Given the description of an element on the screen output the (x, y) to click on. 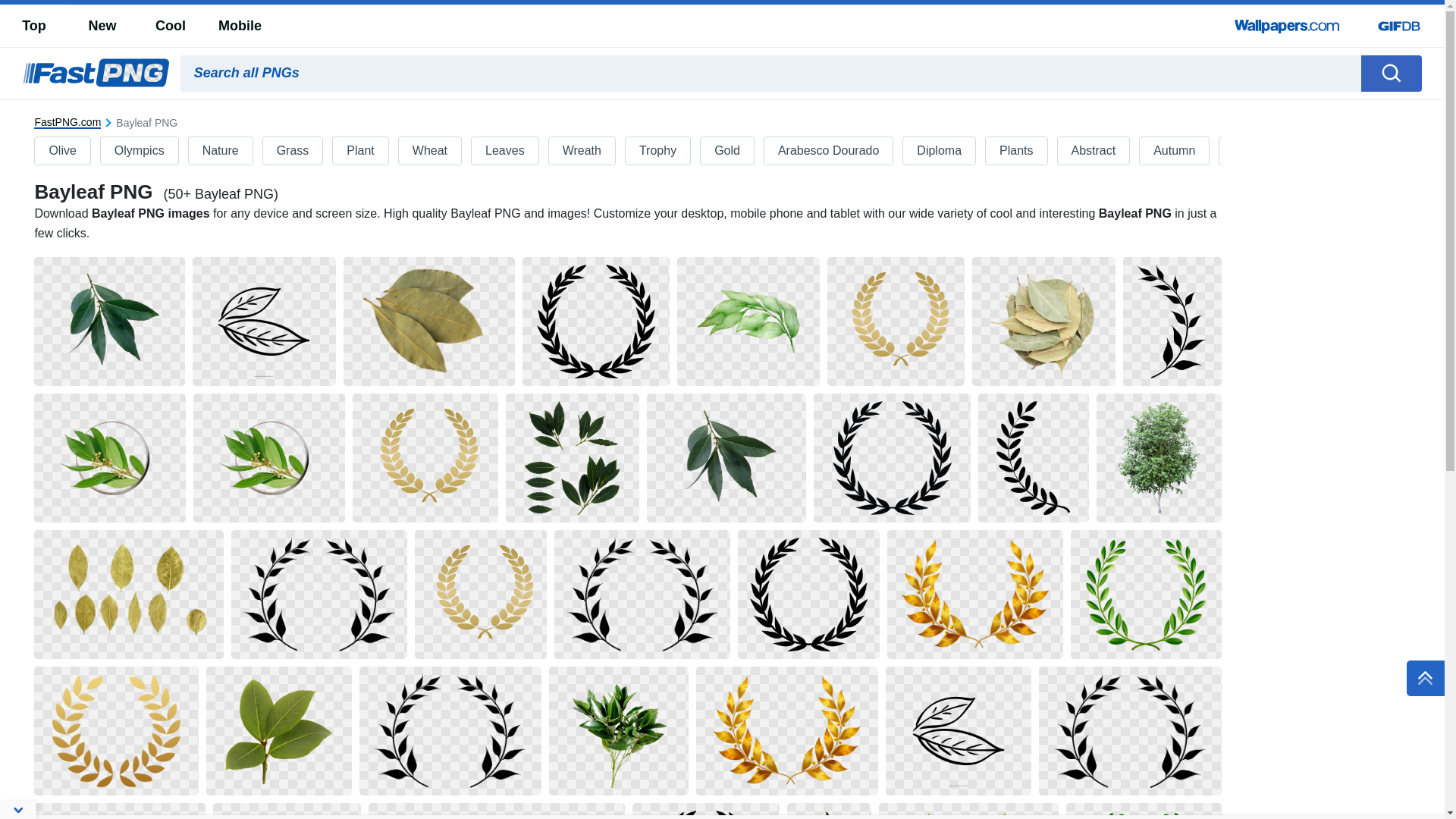
Autumn Element type: text (1173, 150)
A Group Of Green Leaves Element type: hover (572, 457)
A Black Circle With Leaves Element type: hover (891, 457)
A Green Leafy Plant On A Black Background Element type: hover (109, 321)
Abstract Element type: text (1093, 150)
Gold Element type: text (726, 150)
A Pile Of Leaves On A Black Background Element type: hover (1043, 321)
Top Element type: text (33, 26)
Trophy Element type: text (657, 150)
Diploma Element type: text (939, 150)
Wreath Element type: text (582, 150)
FastPNG.com Element type: text (67, 122)
A Tree With Green Leaves Element type: hover (1158, 457)
New Element type: text (101, 26)
A Gold Laurel Wreath With Black Background Element type: hover (787, 730)
A Close Up Of A Leaf Element type: hover (278, 730)
Cool Element type: text (170, 26)
Banner Element type: text (1252, 150)
Plants Element type: text (1015, 150)
Olive Element type: text (61, 150)
A Green Leafy Plant On A Black Background Element type: hover (726, 457)
A Green Leaves In A Glass Bowl Element type: hover (109, 457)
A Black Background With A Black Square Element type: hover (808, 594)
Grass Element type: text (293, 150)
Back to Home page Element type: hover (95, 72)
A Gold Laurel Wreath On A Black Background Element type: hover (116, 730)
A Green Leaf On A Black Background Element type: hover (748, 321)
Wheat Element type: text (429, 150)
A Black Background With A Black Square Element type: hover (450, 730)
A Black Background With A Black Square Element type: hover (1172, 321)
Nature Element type: text (220, 150)
A Group Of Leaves On A Black Background Element type: hover (128, 594)
Leaves Element type: text (504, 150)
A Gold Laurel Wreath On A Black Background Element type: hover (480, 594)
A Green Leafy Plant With Black Background Element type: hover (618, 730)
A Gold Laurel Wreath On A Black Background Element type: hover (425, 457)
A Black Background With A Black Square Element type: hover (1129, 730)
GifDB.com Element type: hover (1398, 25)
A Black Background With A Black Square Element type: hover (641, 594)
A Black And White Image Of A Leaf Element type: hover (1033, 457)
Arabesco Dourado Element type: text (828, 150)
A Group Of Leaves On A Black Background Element type: hover (428, 321)
A Black Background With A Black Square Element type: hover (595, 321)
A Gold Laurel Wreath With Black Background Element type: hover (974, 594)
A Green Leaves In A Glass Bowl Element type: hover (269, 457)
A Green Laurel Wreath With Black Background Element type: hover (1145, 594)
Plant Element type: text (359, 150)
A Black Background With A Black Square Element type: hover (958, 730)
A Gold Laurel Wreath On A Black Background Element type: hover (895, 321)
Mobile Element type: text (239, 26)
Olympics Element type: text (139, 150)
A Black Background With A Black Square Element type: hover (263, 321)
Wallpapers.com Element type: hover (1287, 25)
A Black Background With A Black Square Element type: hover (318, 594)
